Given the description of an element on the screen output the (x, y) to click on. 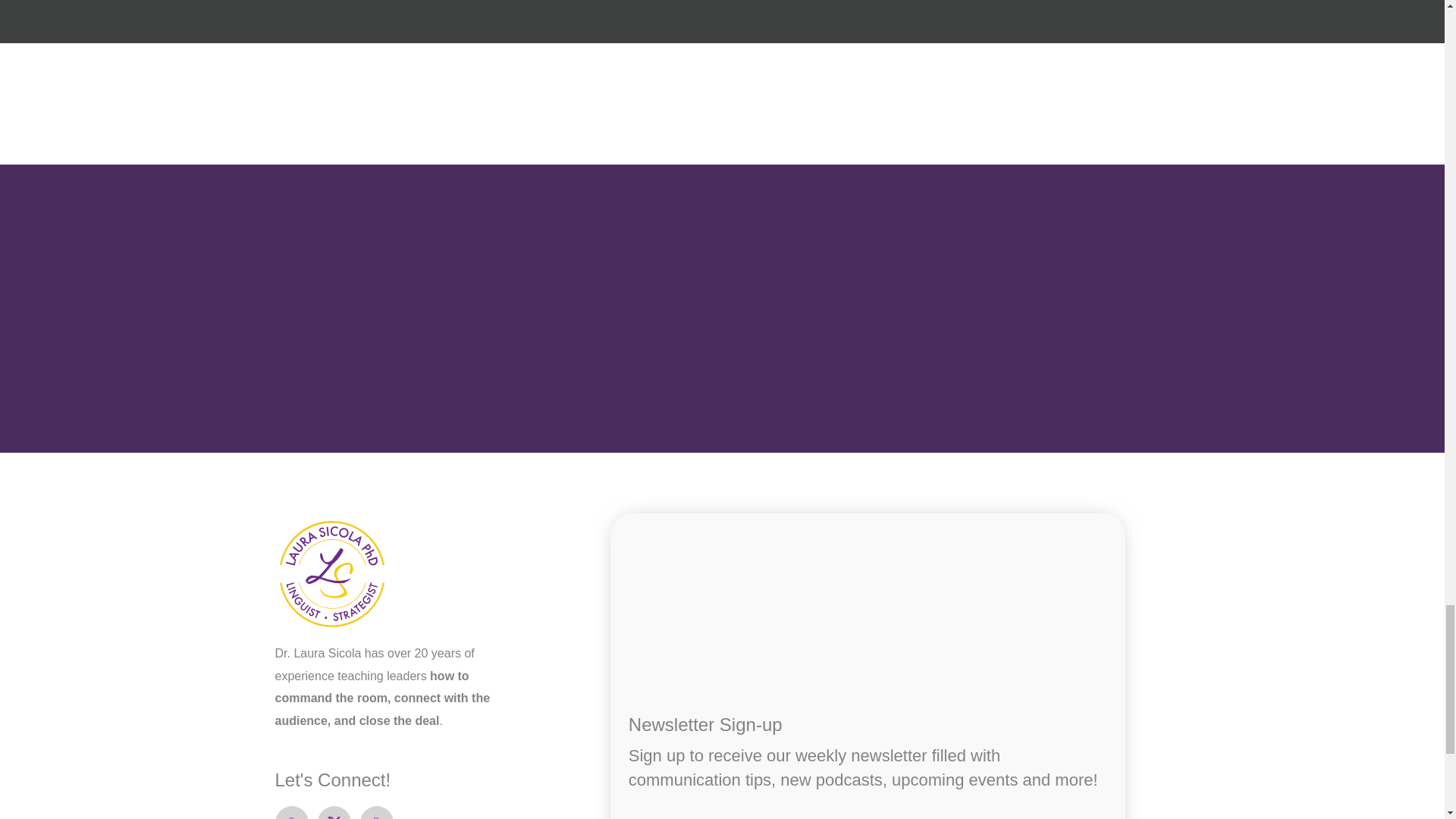
Facebook-f (291, 812)
Instagram (376, 812)
